Given the description of an element on the screen output the (x, y) to click on. 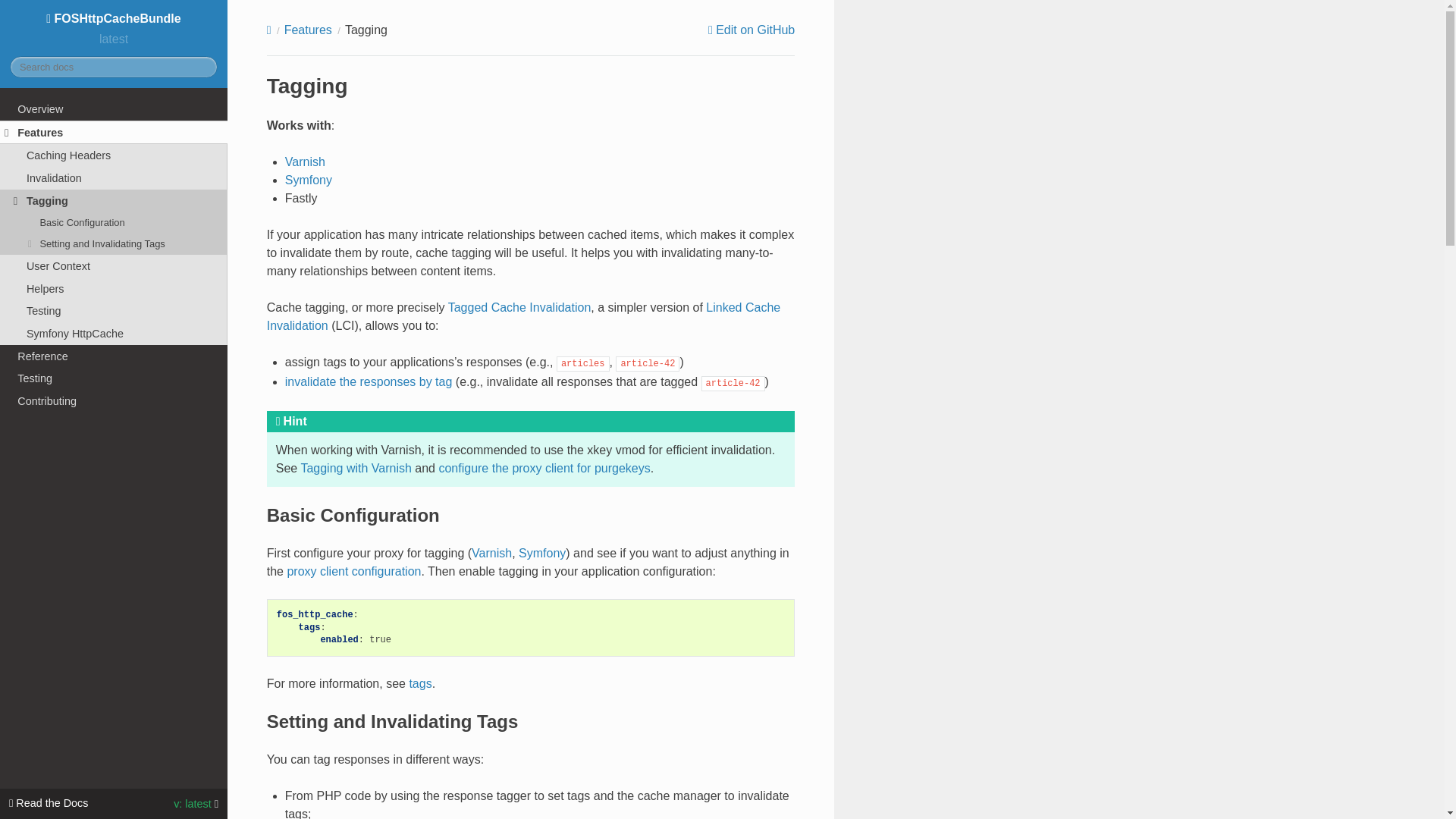
proxy client configuration (353, 571)
Testing (113, 377)
tags (419, 683)
Symfony (542, 553)
Features (307, 29)
Symfony (308, 179)
invalidate the responses by tag (368, 381)
Basic Configuration (113, 221)
Testing (113, 311)
Caching Headers (113, 155)
FOSHttpCacheBundle (113, 18)
Features (113, 132)
Contributing (113, 400)
configure the proxy client for purgekeys (543, 468)
User Context (113, 265)
